Given the description of an element on the screen output the (x, y) to click on. 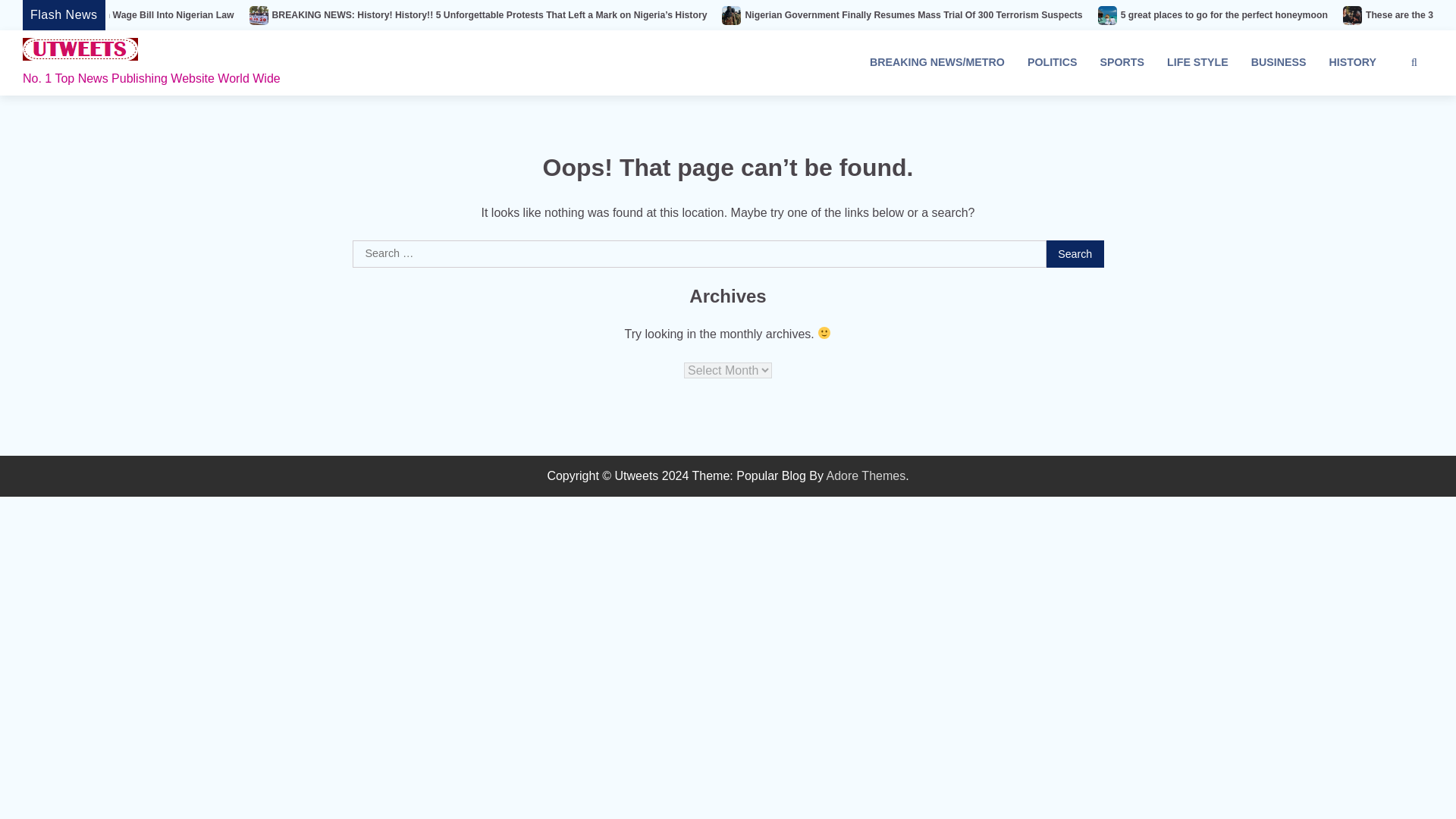
Search (1074, 253)
Search (1074, 253)
Search (1386, 101)
POLITICS (1052, 62)
Adore Themes (866, 475)
HISTORY (1352, 62)
BUSINESS (1278, 62)
Search (1074, 253)
